Given the description of an element on the screen output the (x, y) to click on. 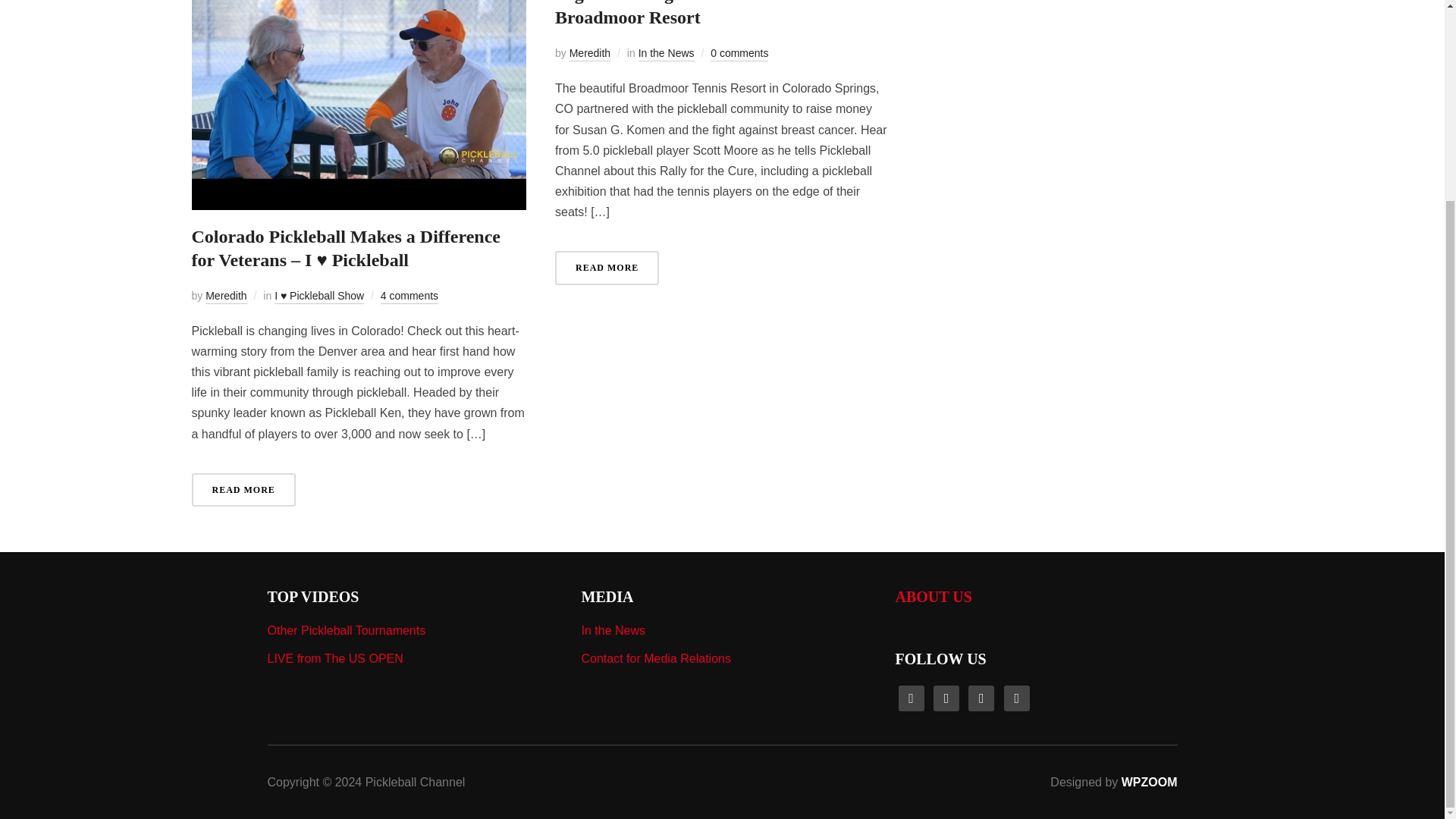
Other Pickleball Tournaments (345, 630)
4 comments (409, 296)
Meredith (225, 296)
Facebook (946, 697)
READ MORE (242, 489)
Posts by Meredith (589, 53)
Default Label (910, 697)
Posts by Meredith (225, 296)
Twitter (1016, 697)
